Given the description of an element on the screen output the (x, y) to click on. 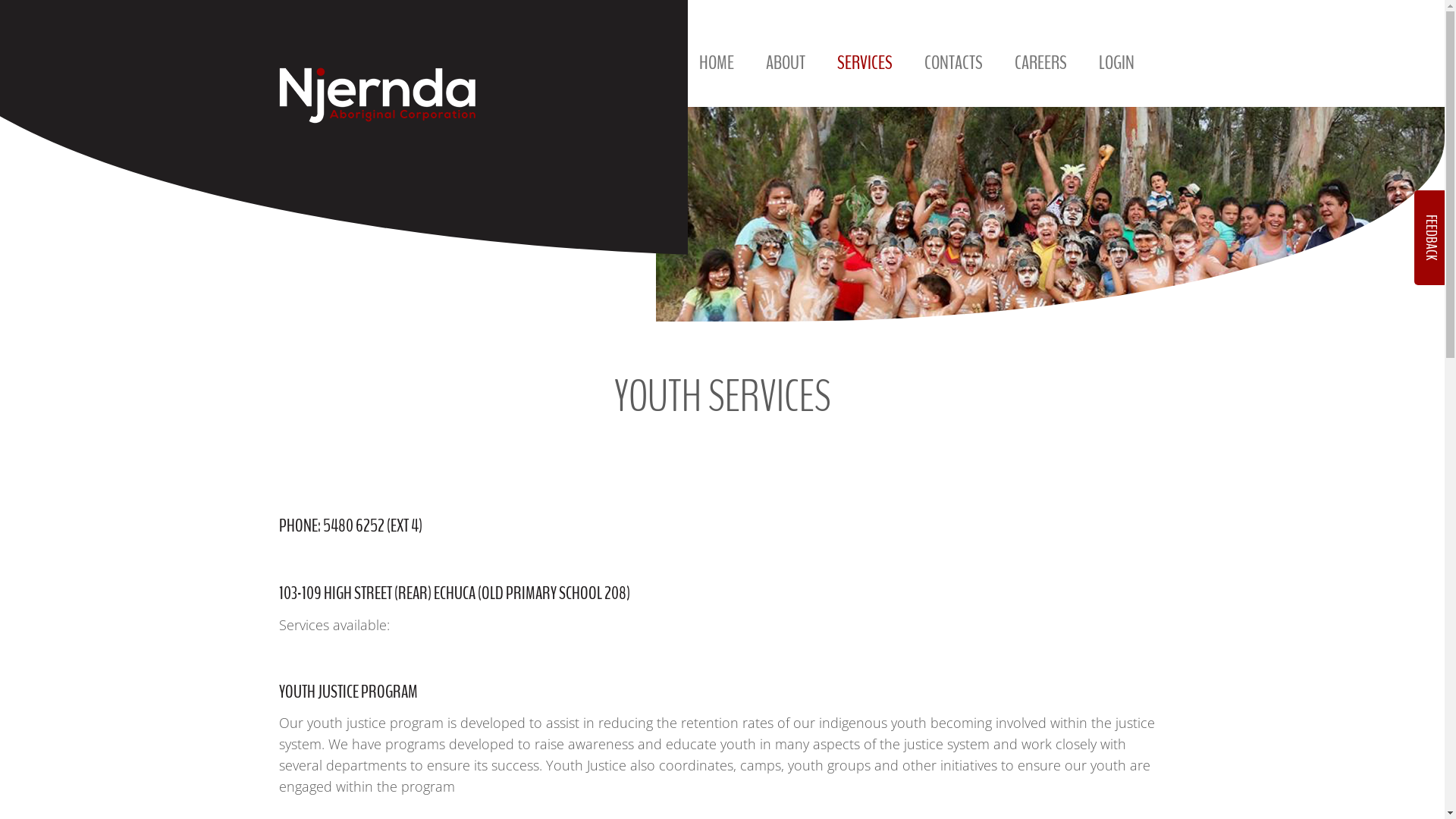
ABOUT Element type: text (785, 73)
SERVICES Element type: text (864, 73)
HOME Element type: text (716, 73)
CONTACTS Element type: text (952, 73)
LOGIN Element type: text (1115, 73)
CAREERS Element type: text (1040, 73)
